Given the description of an element on the screen output the (x, y) to click on. 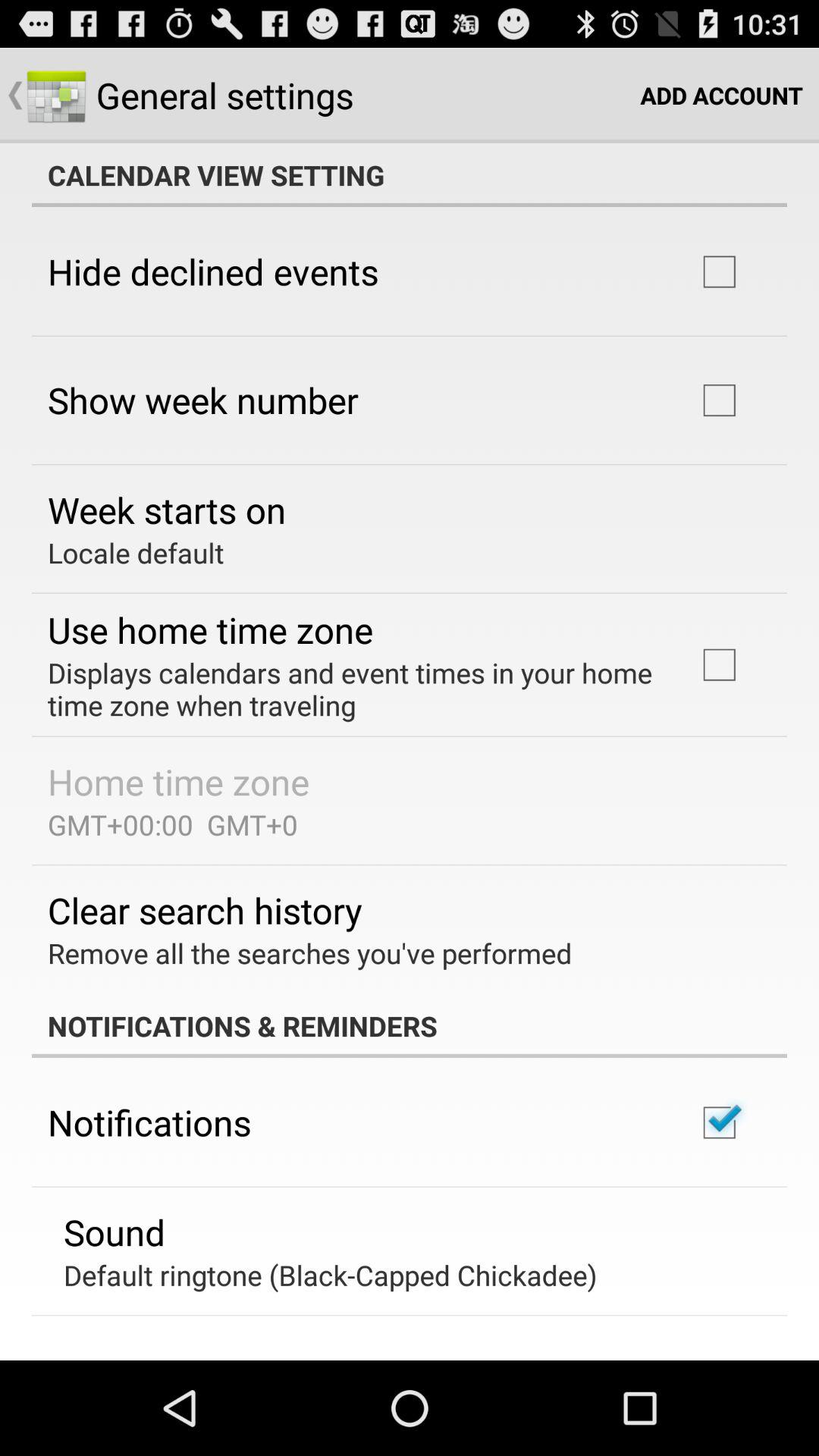
select notifications & reminders icon (409, 1025)
